Given the description of an element on the screen output the (x, y) to click on. 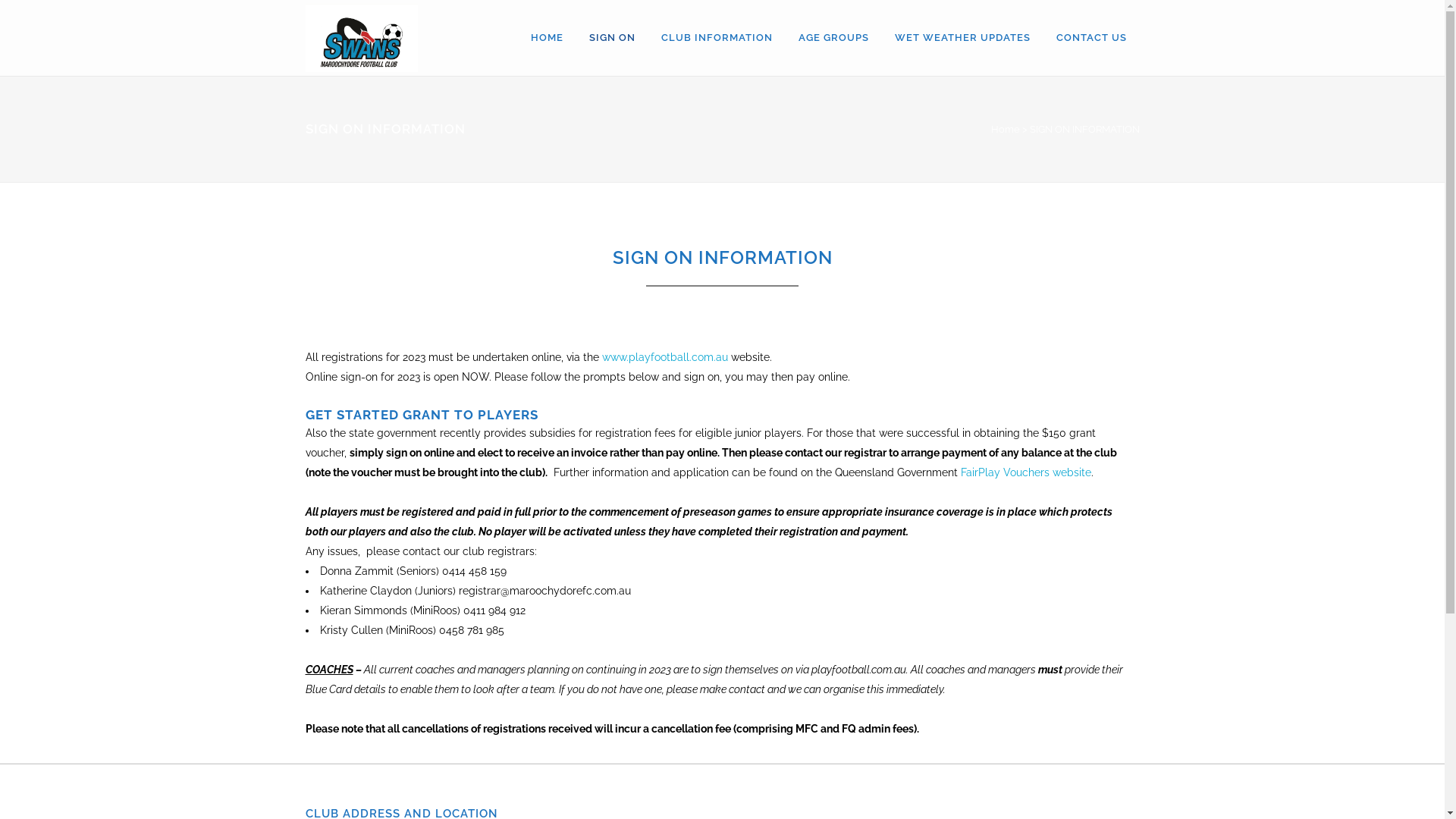
SIGN ON Element type: text (612, 37)
Home Element type: text (1004, 128)
AGE GROUPS Element type: text (833, 37)
www.playfootball.com.au Element type: text (665, 357)
WET WEATHER UPDATES Element type: text (961, 37)
CONTACT US Element type: text (1091, 37)
HOME Element type: text (546, 37)
CLUB INFORMATION Element type: text (715, 37)
FairPlay Vouchers website Element type: text (1025, 472)
